Given the description of an element on the screen output the (x, y) to click on. 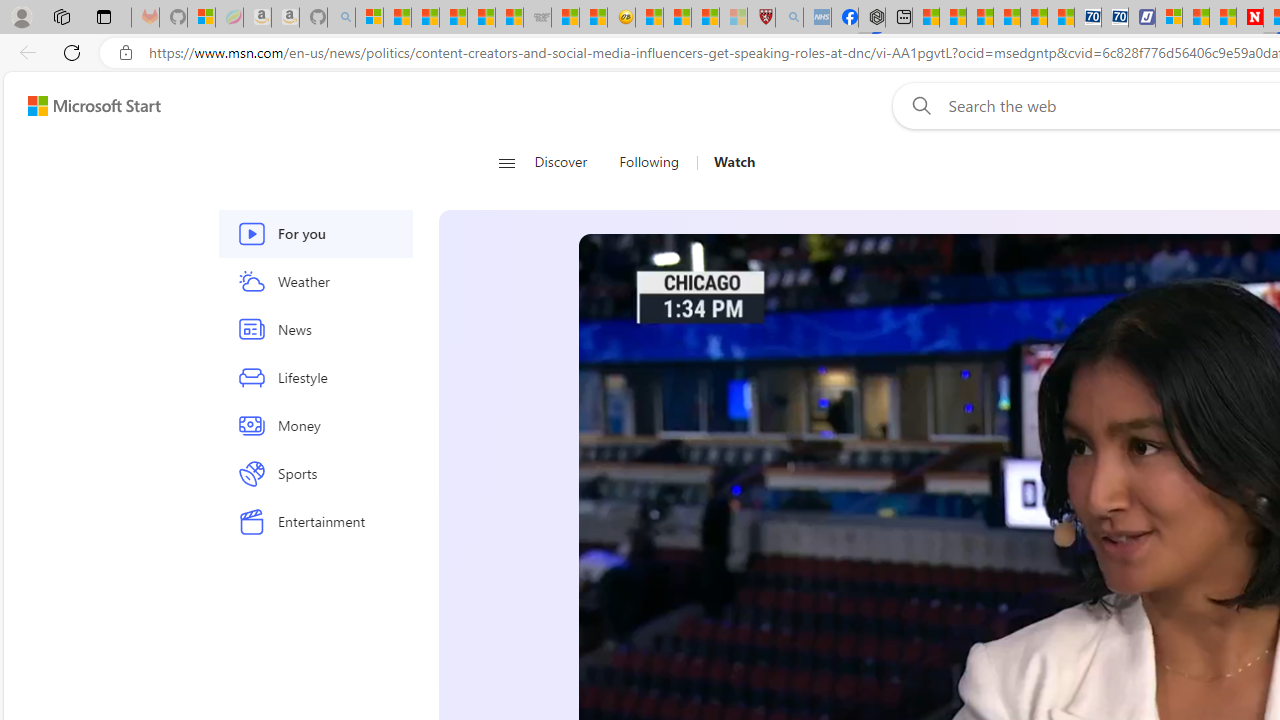
Cheap Hotels - Save70.com (1114, 17)
Recipes - MSN (649, 17)
Open navigation menu (506, 162)
Robert H. Shmerling, MD - Harvard Health (760, 17)
